Given the description of an element on the screen output the (x, y) to click on. 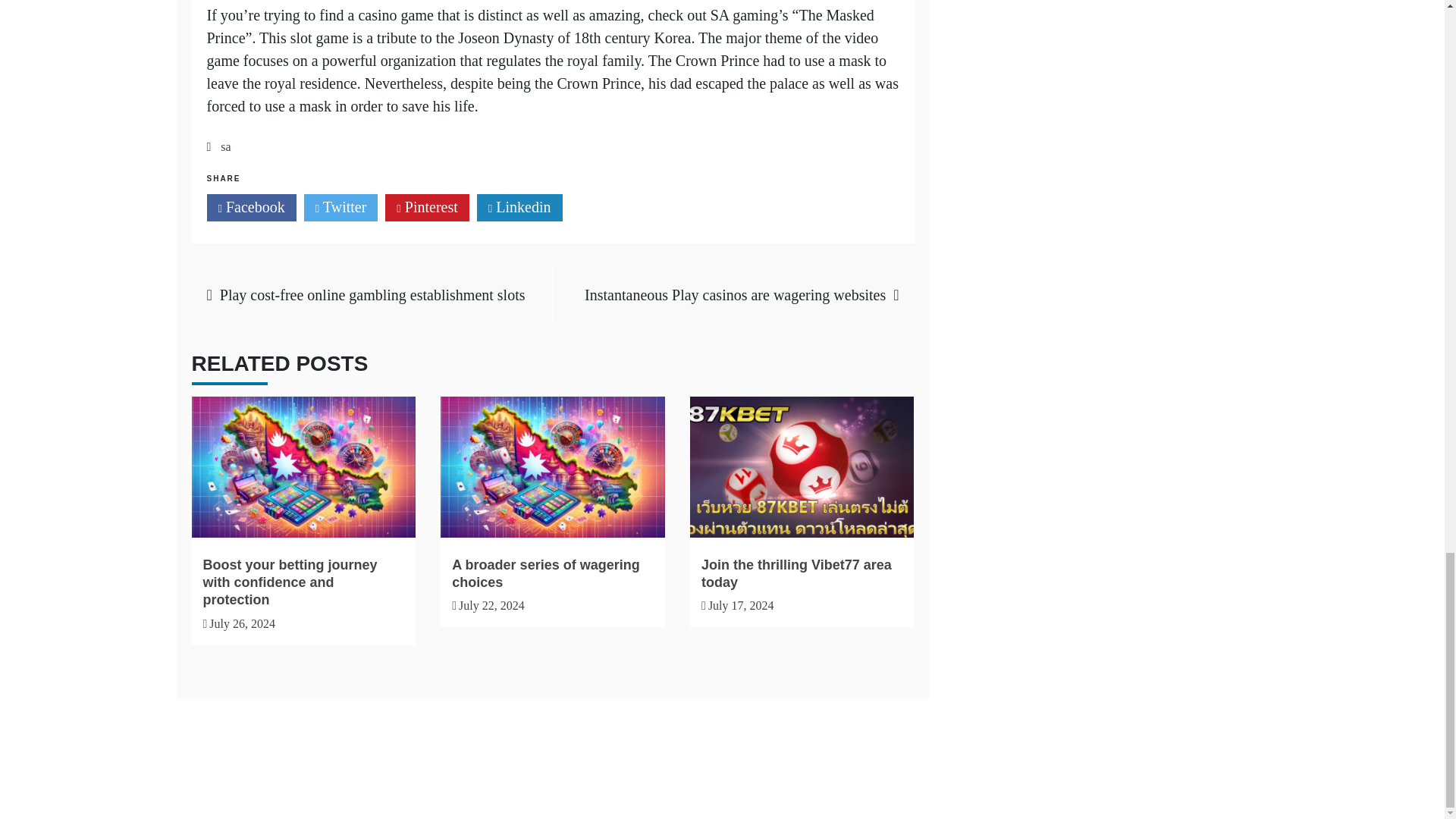
Instantaneous Play casinos are wagering websites (735, 294)
Play cost-free online gambling establishment slots (372, 294)
Pinterest (426, 207)
Twitter (341, 207)
Linkedin (519, 207)
July 26, 2024 (242, 623)
Boost your betting journey with confidence and protection (290, 582)
Facebook (250, 207)
